Given the description of an element on the screen output the (x, y) to click on. 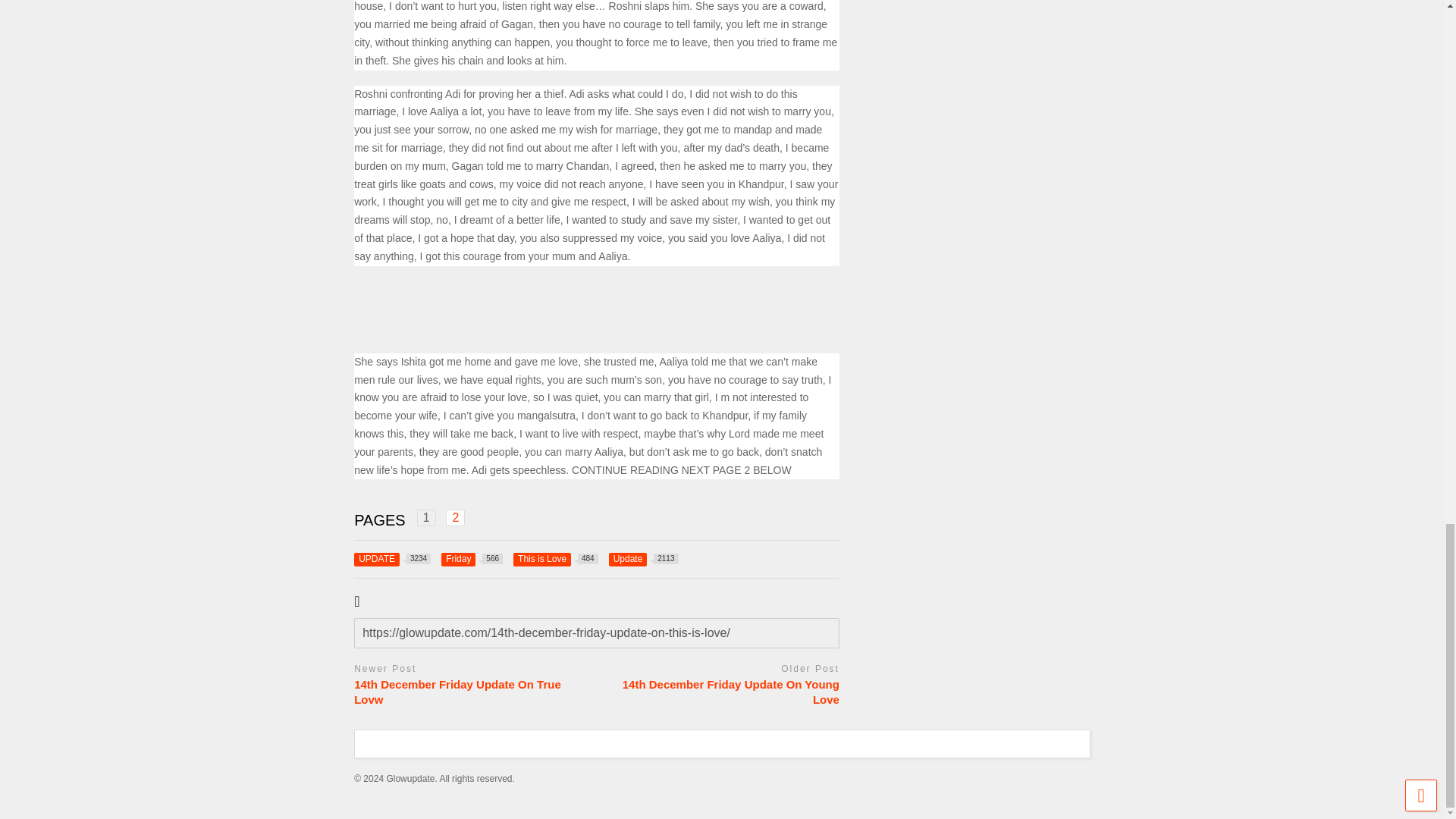
14th December Friday Update On True Lovw (471, 558)
14th December Friday Update On Young Love (555, 558)
2 (391, 558)
